Given the description of an element on the screen output the (x, y) to click on. 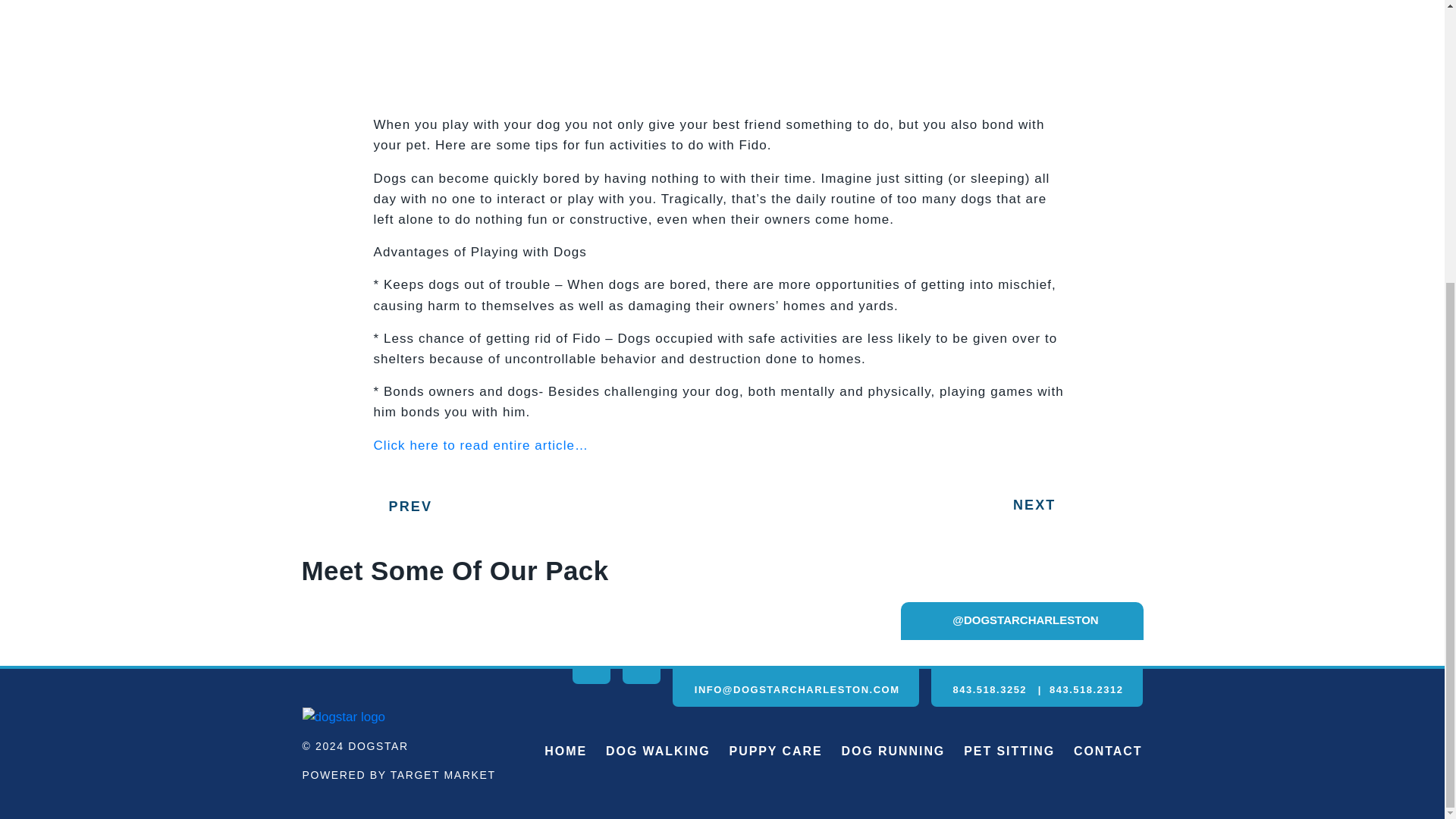
dogstar-about-dog-running (932, 38)
PREV (402, 506)
dogstar logo (343, 717)
NEXT (1042, 505)
Fun Activities to Do With Dogs (480, 445)
